Given the description of an element on the screen output the (x, y) to click on. 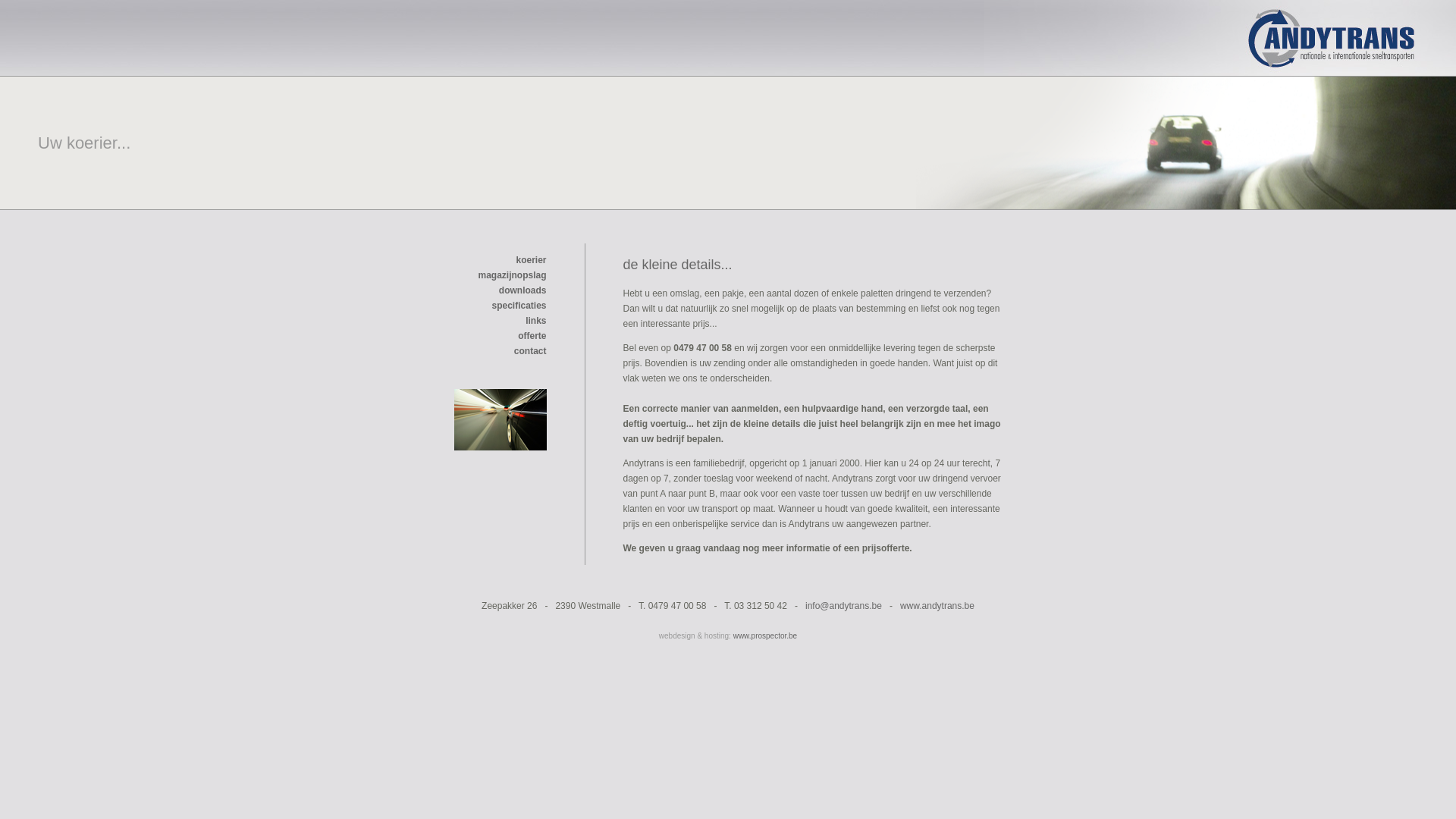
magazijnopslag Element type: text (511, 282)
koerier Element type: text (530, 259)
info@andytrans.be Element type: text (843, 605)
www.andytrans.be Element type: text (937, 605)
offerte Element type: text (531, 335)
downloads Element type: text (522, 290)
www.prospector.be Element type: text (765, 635)
links Element type: text (535, 320)
specificaties Element type: text (518, 305)
contact Element type: text (530, 350)
